Given the description of an element on the screen output the (x, y) to click on. 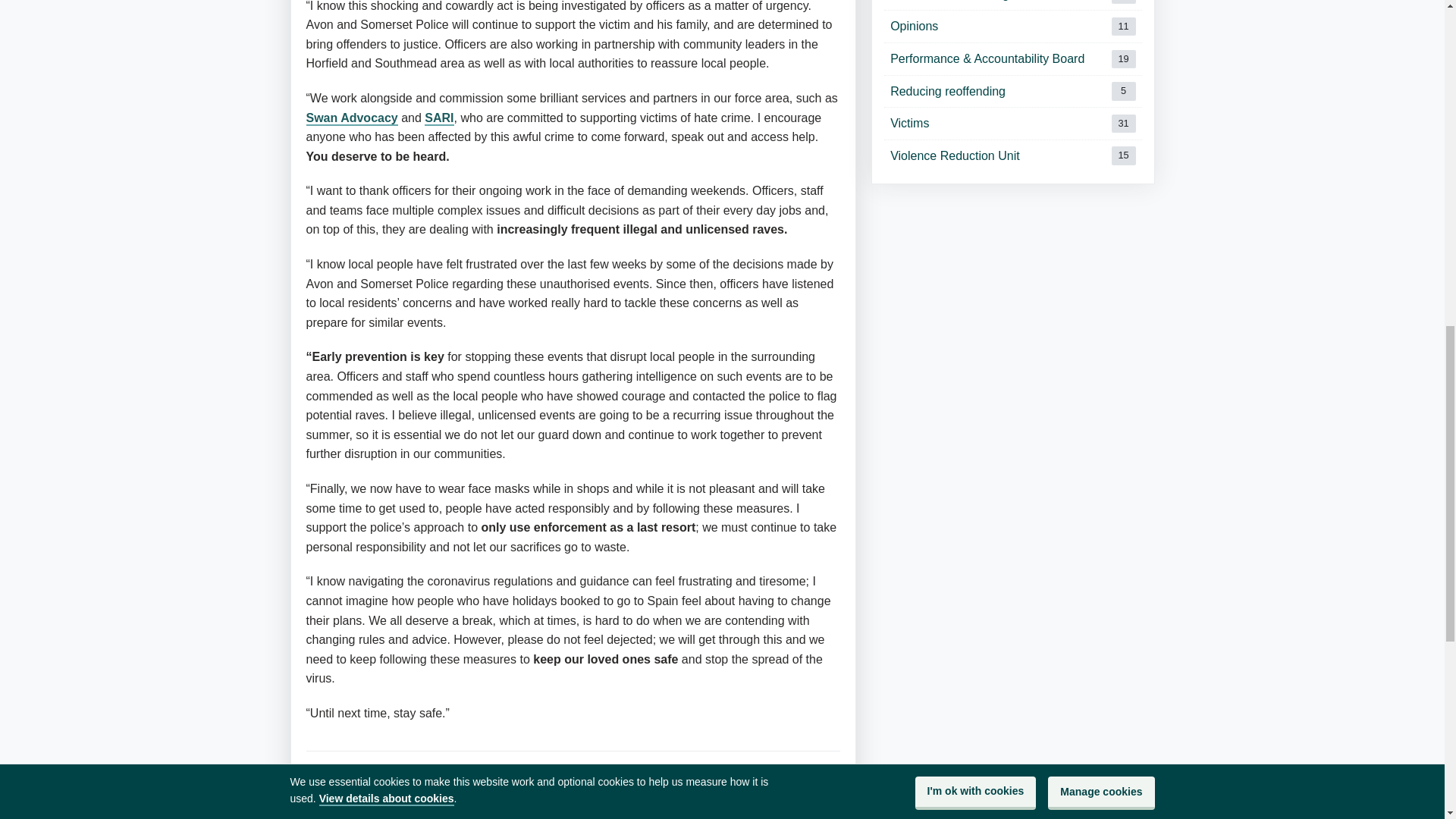
Share on Facebook (1012, 26)
Swan Advocacy (493, 792)
SARI (1012, 123)
